Given the description of an element on the screen output the (x, y) to click on. 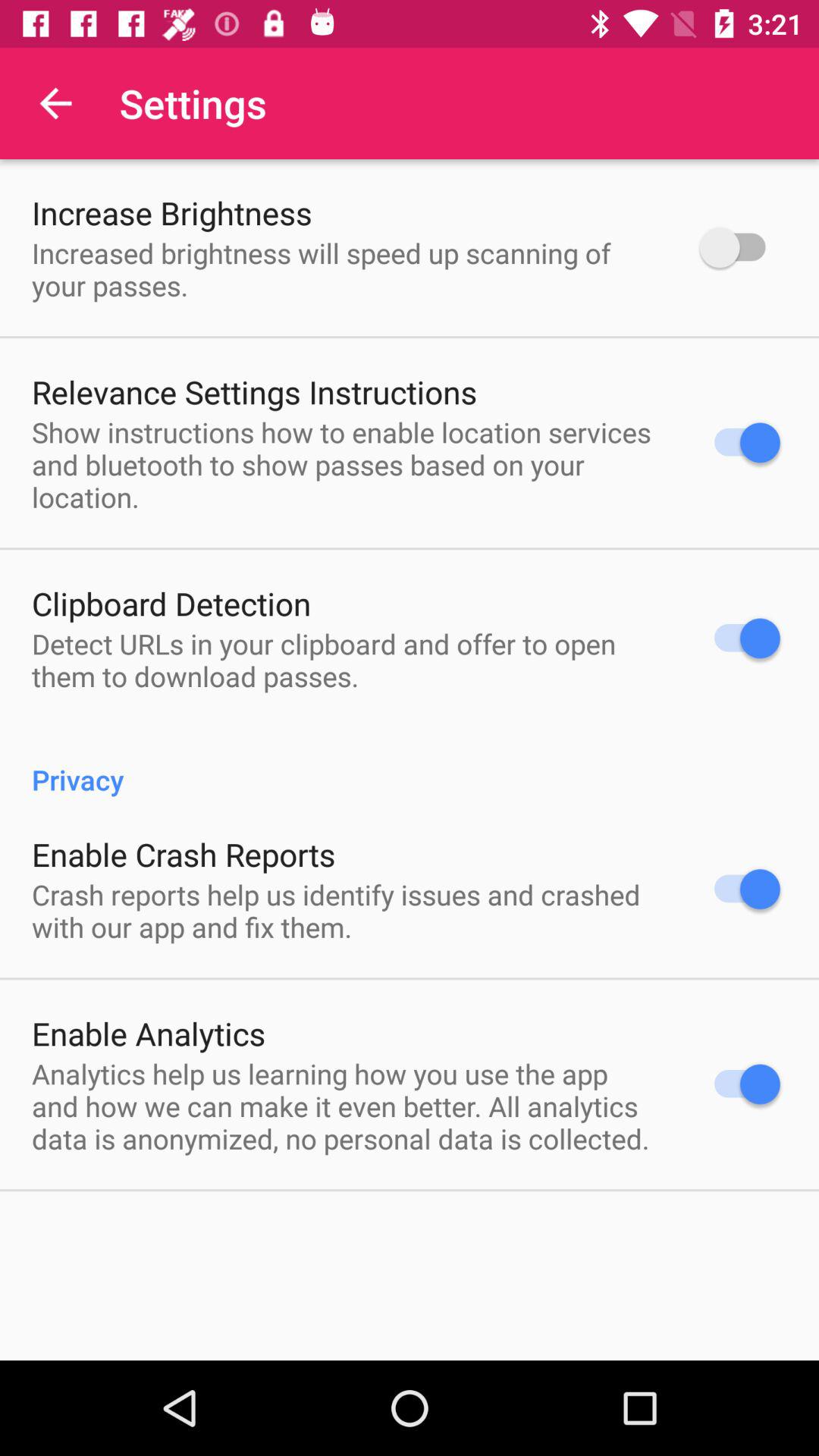
jump to relevance settings instructions (254, 391)
